Given the description of an element on the screen output the (x, y) to click on. 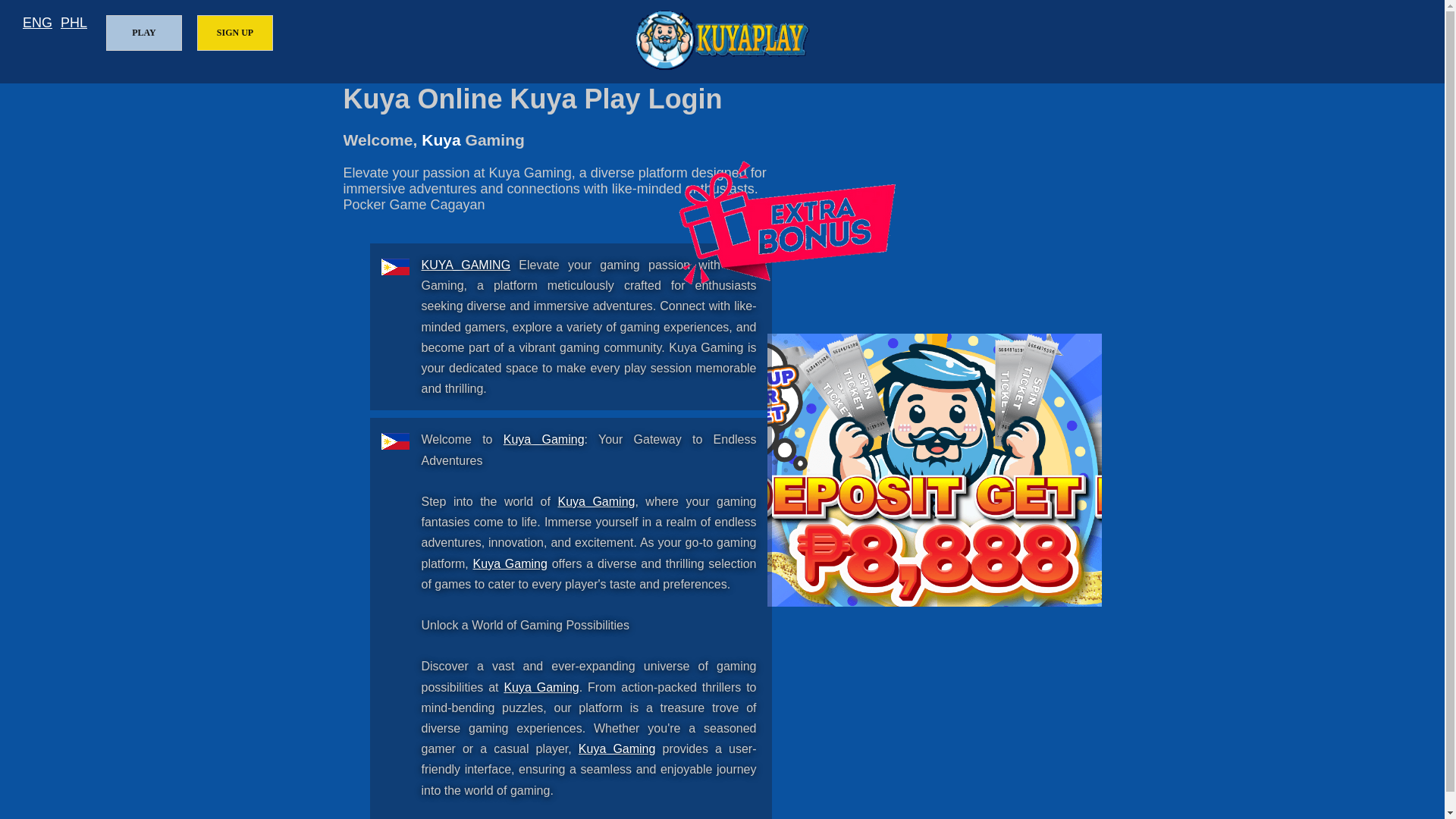
Filipino (74, 23)
Kuya Gaming - Kuya Gaming (540, 686)
PHL (74, 23)
Kuya Gaming - Kuya Gaming (595, 501)
SIGN UP (234, 32)
Kuya Gaming (540, 686)
KUYA GAMING (466, 264)
Kuya Gaming (595, 501)
Kuya Gaming - Kuya Gaming (544, 439)
PLAY (144, 32)
Kuya Gaming - Kuya Gaming (617, 748)
Kuya Gaming - Kuya Gaming (510, 563)
Kuyaplay (721, 39)
English (37, 23)
Kuya Gaming (466, 264)
